Given the description of an element on the screen output the (x, y) to click on. 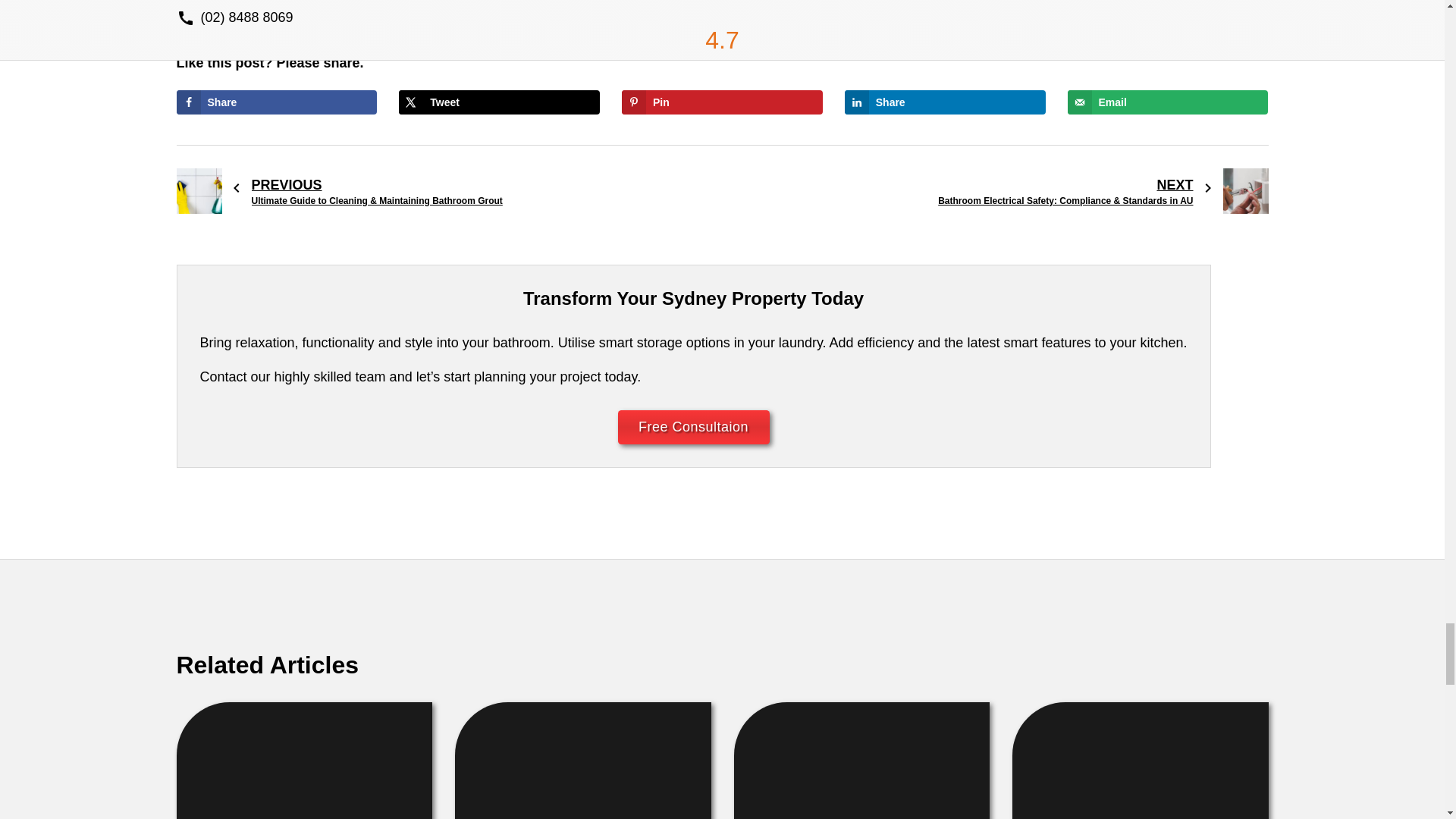
Share on X (498, 102)
Send over email (1167, 102)
Save to Pinterest (721, 102)
Share on LinkedIn (944, 102)
Share on Facebook (276, 102)
